Given the description of an element on the screen output the (x, y) to click on. 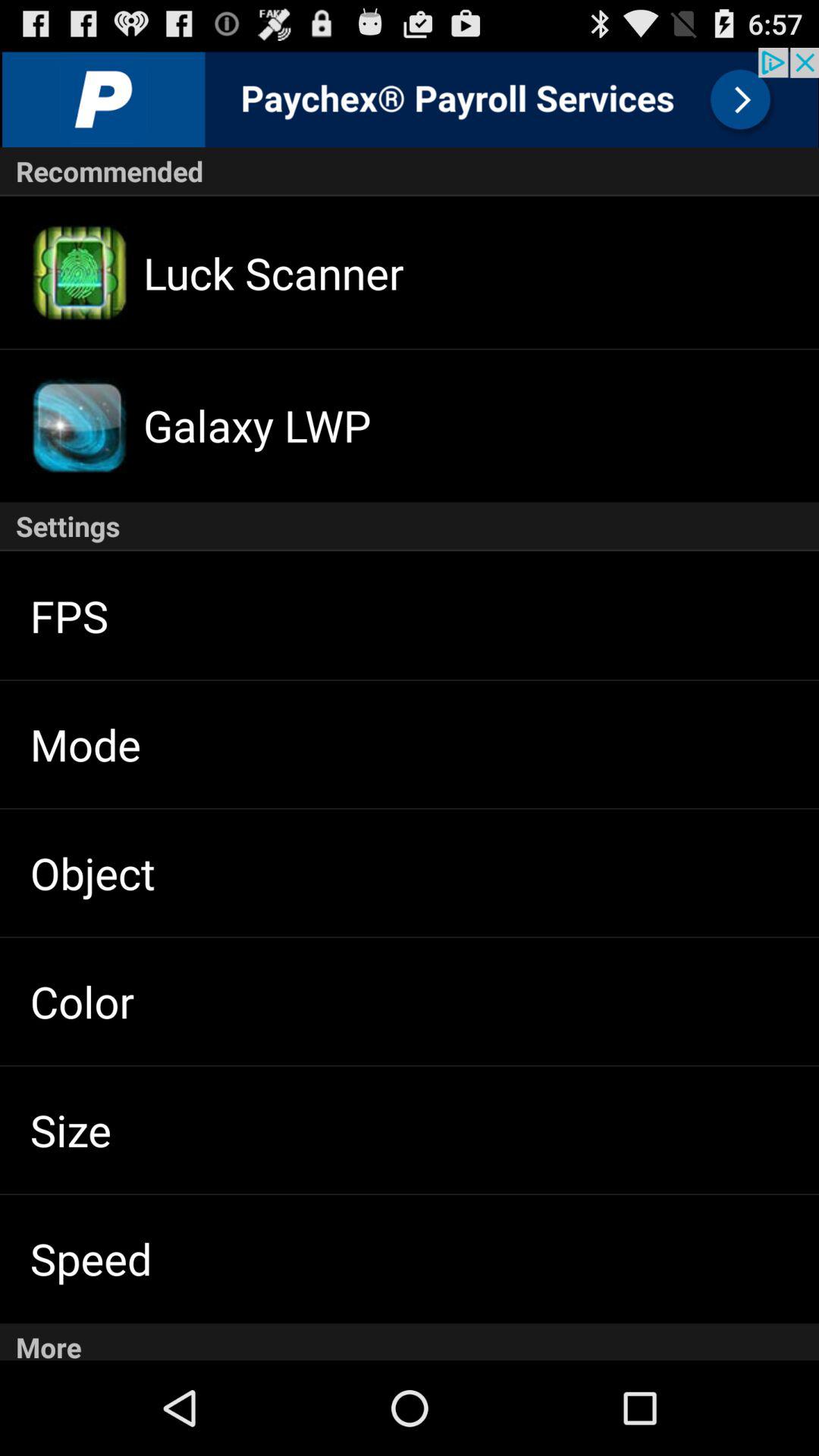
open advertisement (409, 97)
